Given the description of an element on the screen output the (x, y) to click on. 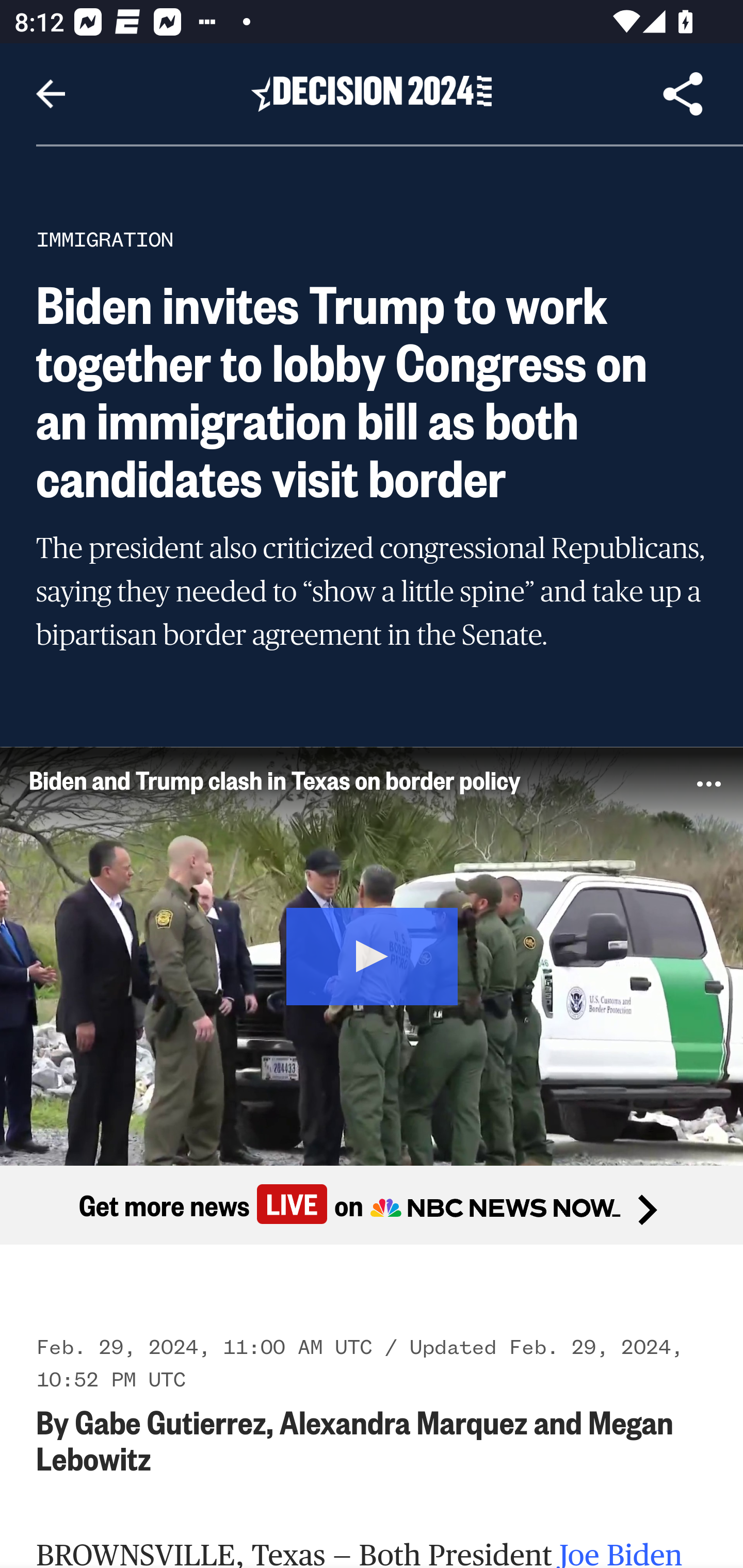
Navigate up (50, 93)
Share Article, button (683, 94)
Header, Decision 2024 (371, 93)
IMMIGRATION (105, 239)
Video Player Unable to play media. Play   (371, 955)
Biden and Trump clash in Texas on border policy (336, 779)
Play (372, 954)
Get more news Live on Get more news Live on (371, 1203)
Megan Lebowitz (355, 1439)
